Given the description of an element on the screen output the (x, y) to click on. 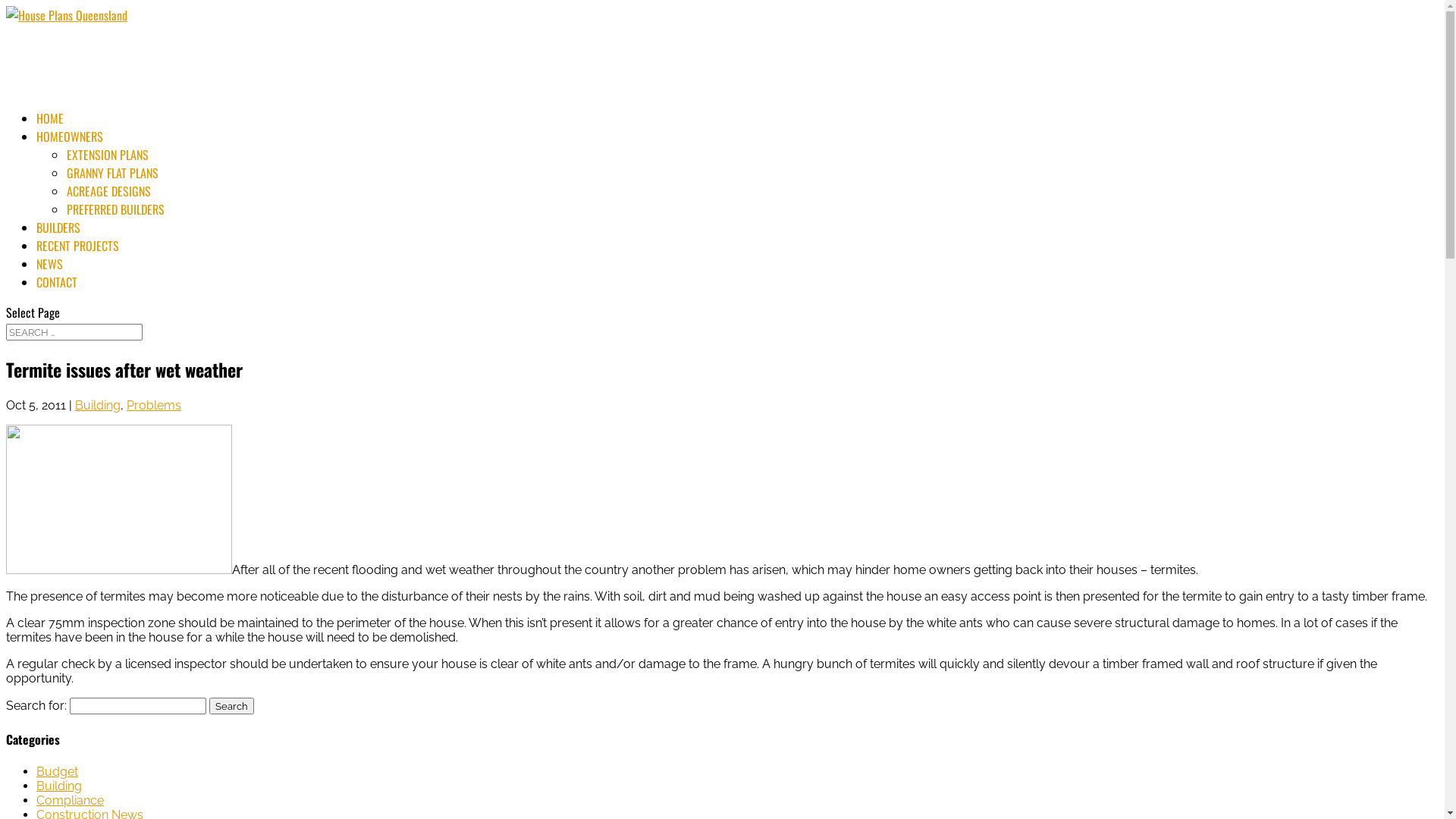
NEWS Element type: text (49, 271)
Search Element type: text (231, 705)
HOME Element type: text (49, 126)
Budget Element type: text (57, 771)
GRANNY FLAT PLANS Element type: text (112, 172)
RECENT PROJECTS Element type: text (77, 253)
PREFERRED BUILDERS Element type: text (115, 209)
Search for: Element type: hover (74, 331)
EXTENSION PLANS Element type: text (107, 154)
Problems Element type: text (153, 405)
CONTACT Element type: text (56, 290)
HOMEOWNERS Element type: text (69, 144)
Building Element type: text (97, 405)
Compliance Element type: text (69, 800)
termites Element type: hover (119, 499)
ACREAGE DESIGNS Element type: text (108, 191)
BUILDERS Element type: text (58, 235)
Building Element type: text (58, 785)
